Given the description of an element on the screen output the (x, y) to click on. 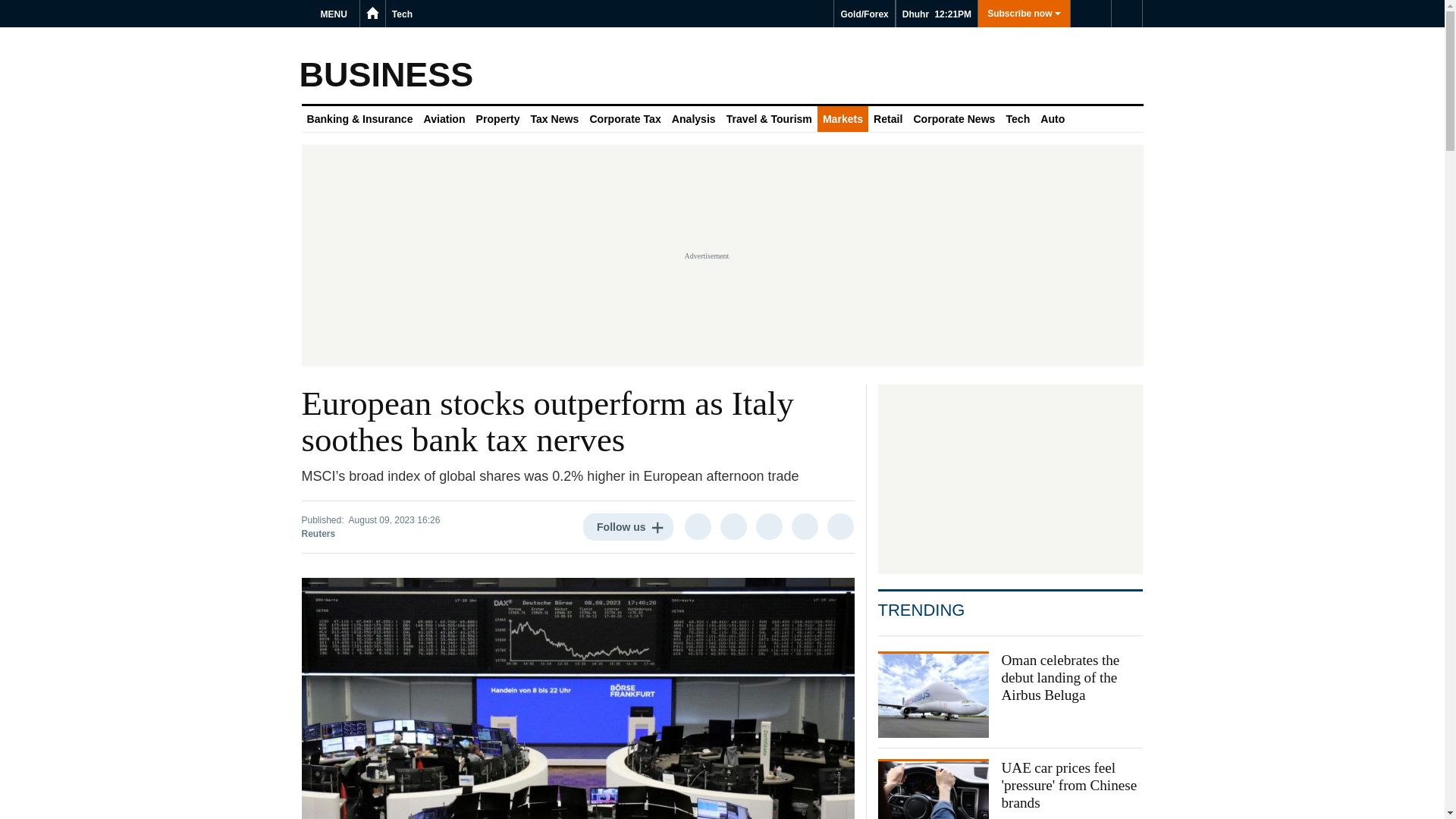
Tech (402, 13)
Subscribe now (1024, 13)
MENU (336, 13)
Dhuhr 12:21PM (936, 13)
